Given the description of an element on the screen output the (x, y) to click on. 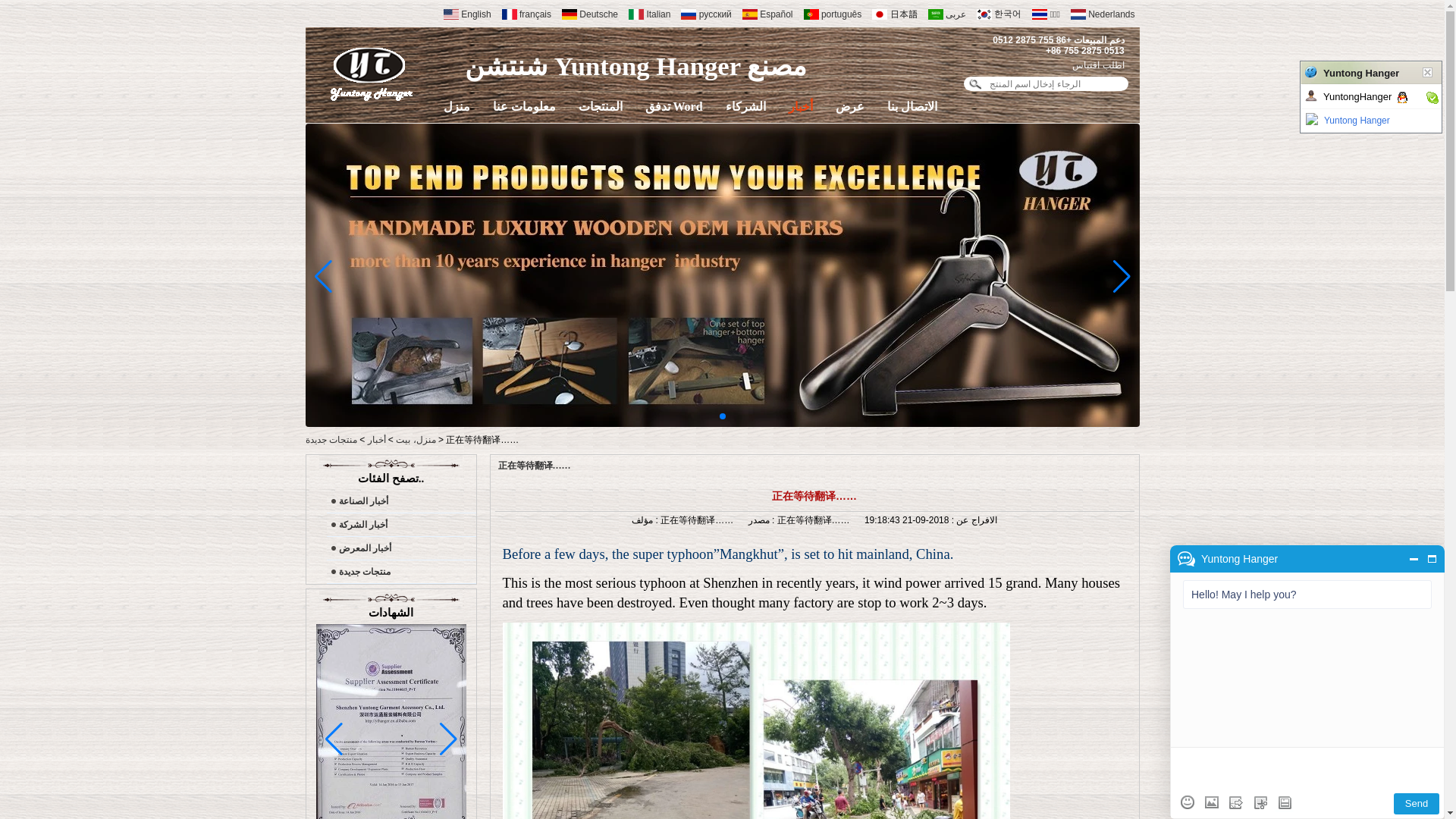
Deutsche (586, 12)
English (465, 12)
Nederlands (1099, 12)
Italian (646, 12)
